Given the description of an element on the screen output the (x, y) to click on. 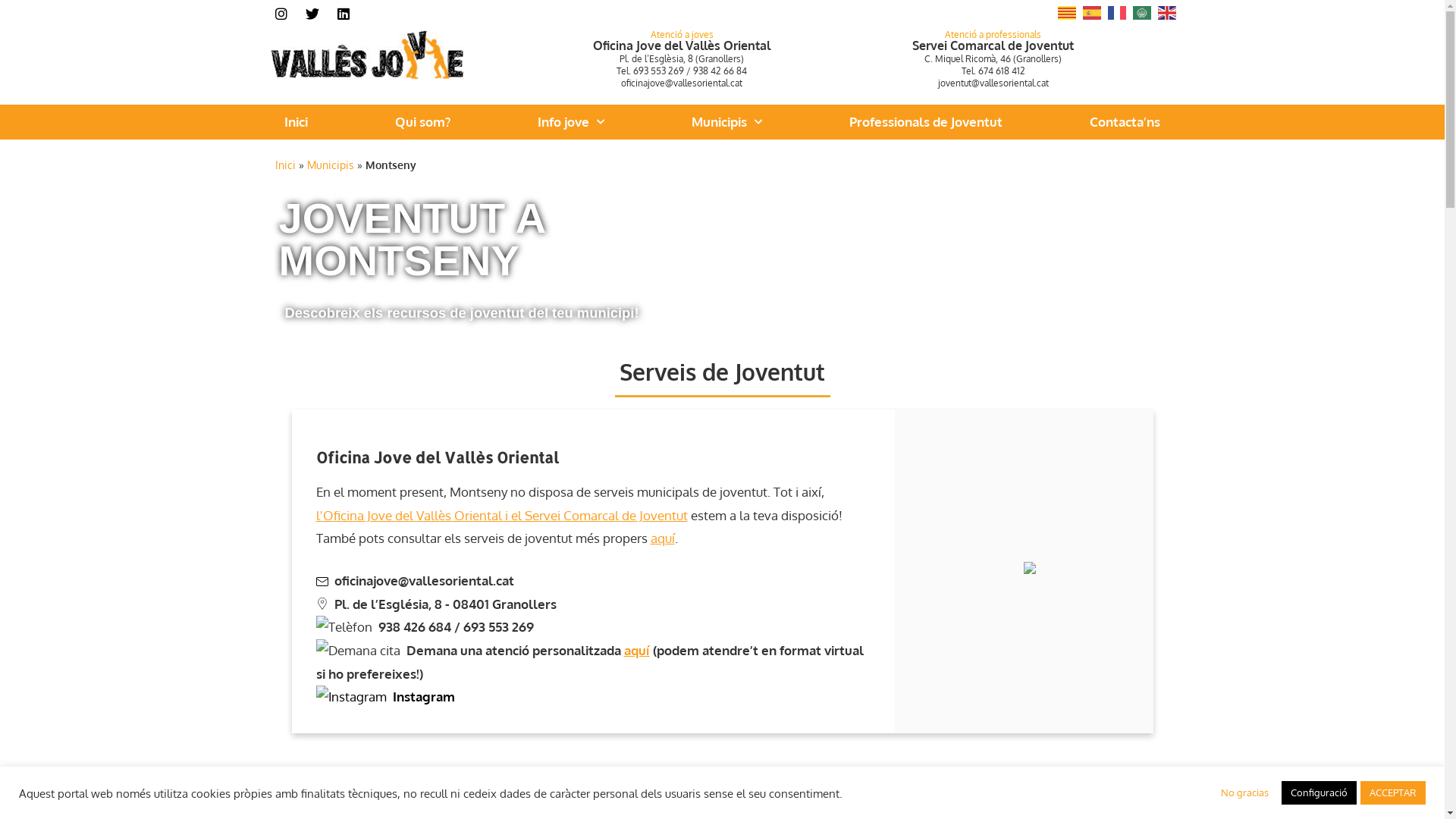
Municipis Element type: text (726, 121)
No gracias Element type: text (1244, 792)
 Instagram Element type: text (384, 696)
Arabic Element type: hover (1142, 10)
Qui som? Element type: text (422, 121)
Professionals de Joventut Element type: text (925, 121)
French Element type: hover (1116, 10)
Spanish Element type: hover (1092, 10)
Inici Element type: text (284, 164)
Info jove Element type: text (570, 121)
ACCEPTAR Element type: text (1392, 792)
Inici Element type: text (296, 121)
English Element type: hover (1166, 10)
Catalan Element type: hover (1066, 10)
Municipis Element type: text (329, 164)
